Given the description of an element on the screen output the (x, y) to click on. 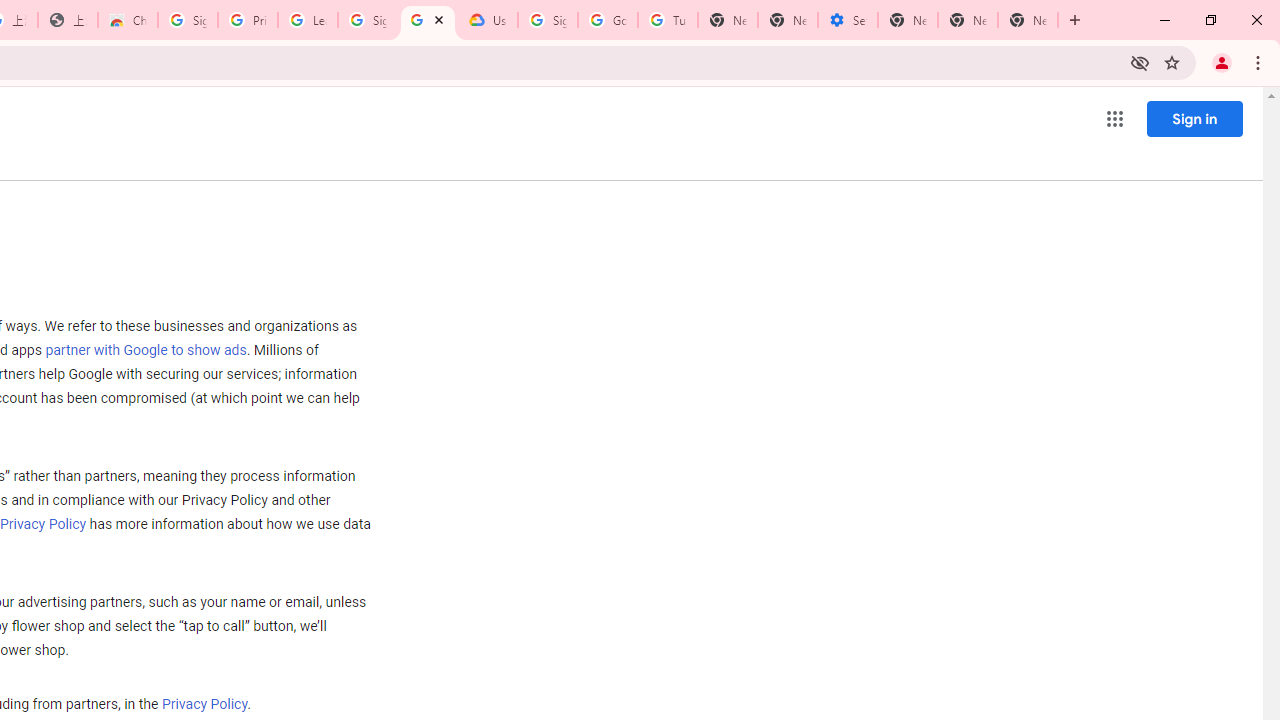
Chrome Web Store - Color themes by Chrome (127, 20)
Sign in - Google Accounts (548, 20)
Settings - Addresses and more (847, 20)
New Tab (1028, 20)
partner with Google to show ads (145, 351)
Sign in - Google Accounts (187, 20)
New Tab (908, 20)
